Given the description of an element on the screen output the (x, y) to click on. 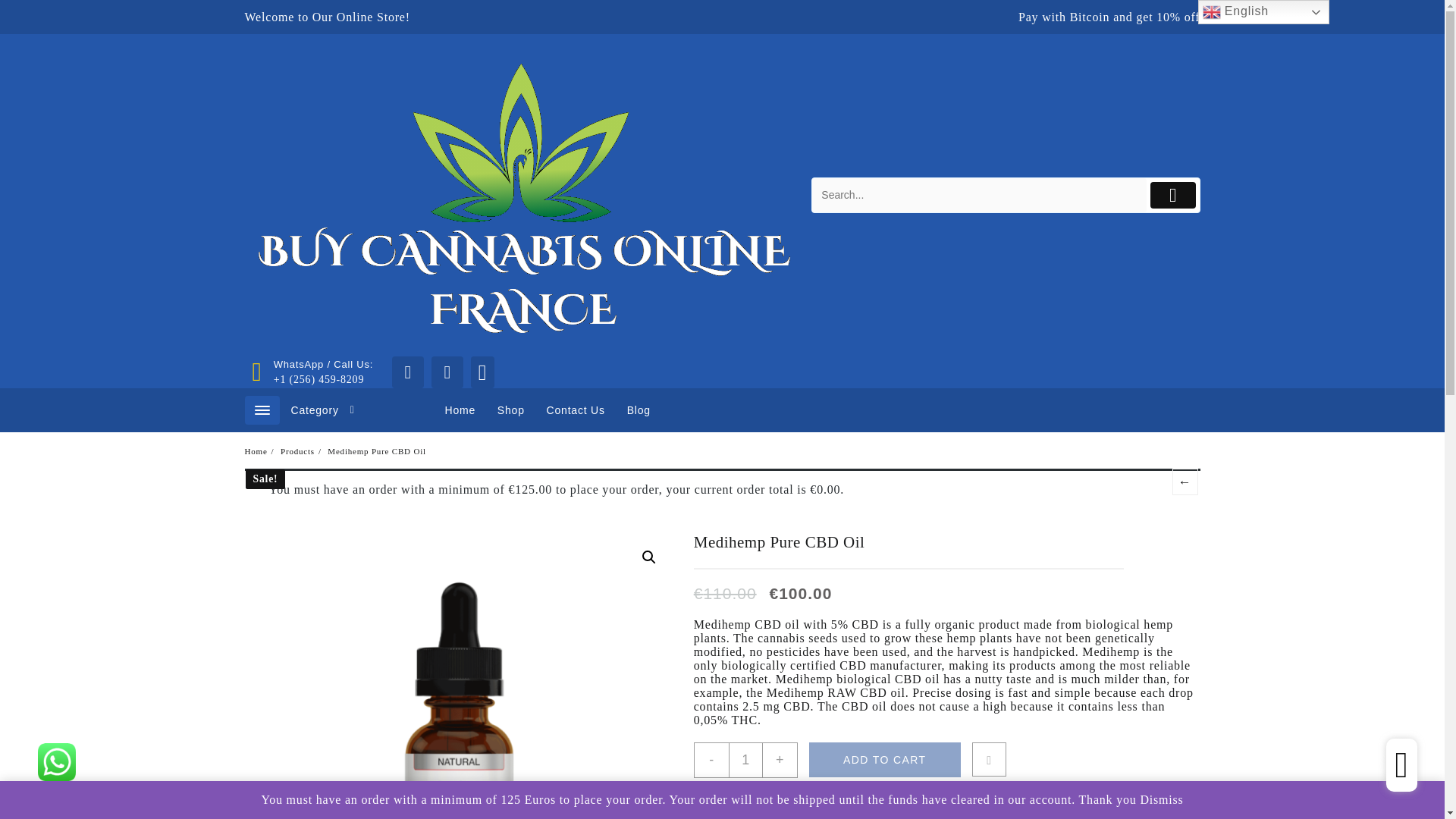
Search (977, 195)
Submit (1172, 194)
1 (745, 759)
